Given the description of an element on the screen output the (x, y) to click on. 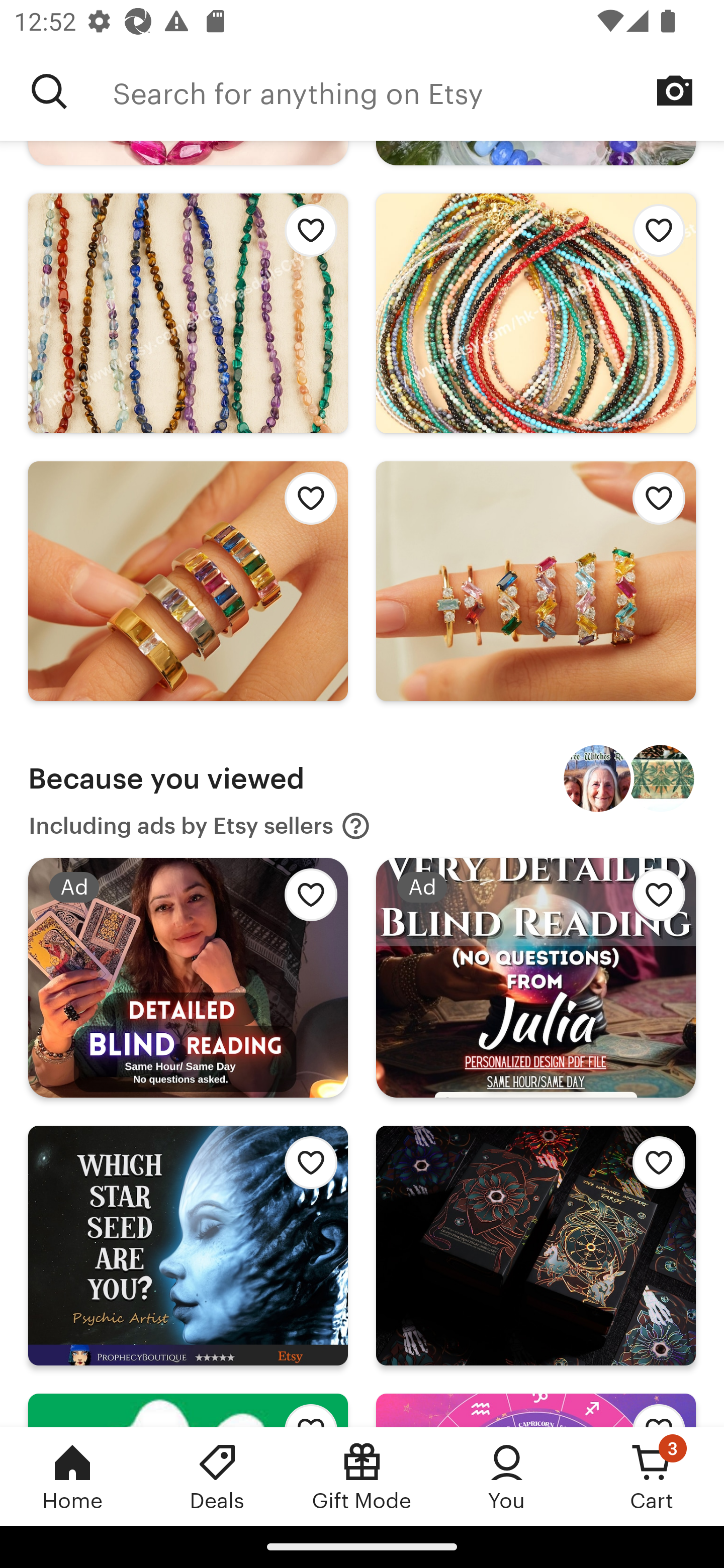
Search for anything on Etsy (49, 91)
Search by image (674, 90)
Search for anything on Etsy (418, 91)
Including ads by Etsy sellers (199, 825)
Deals (216, 1475)
Gift Mode (361, 1475)
You (506, 1475)
Cart, 3 new notifications Cart (651, 1475)
